Given the description of an element on the screen output the (x, y) to click on. 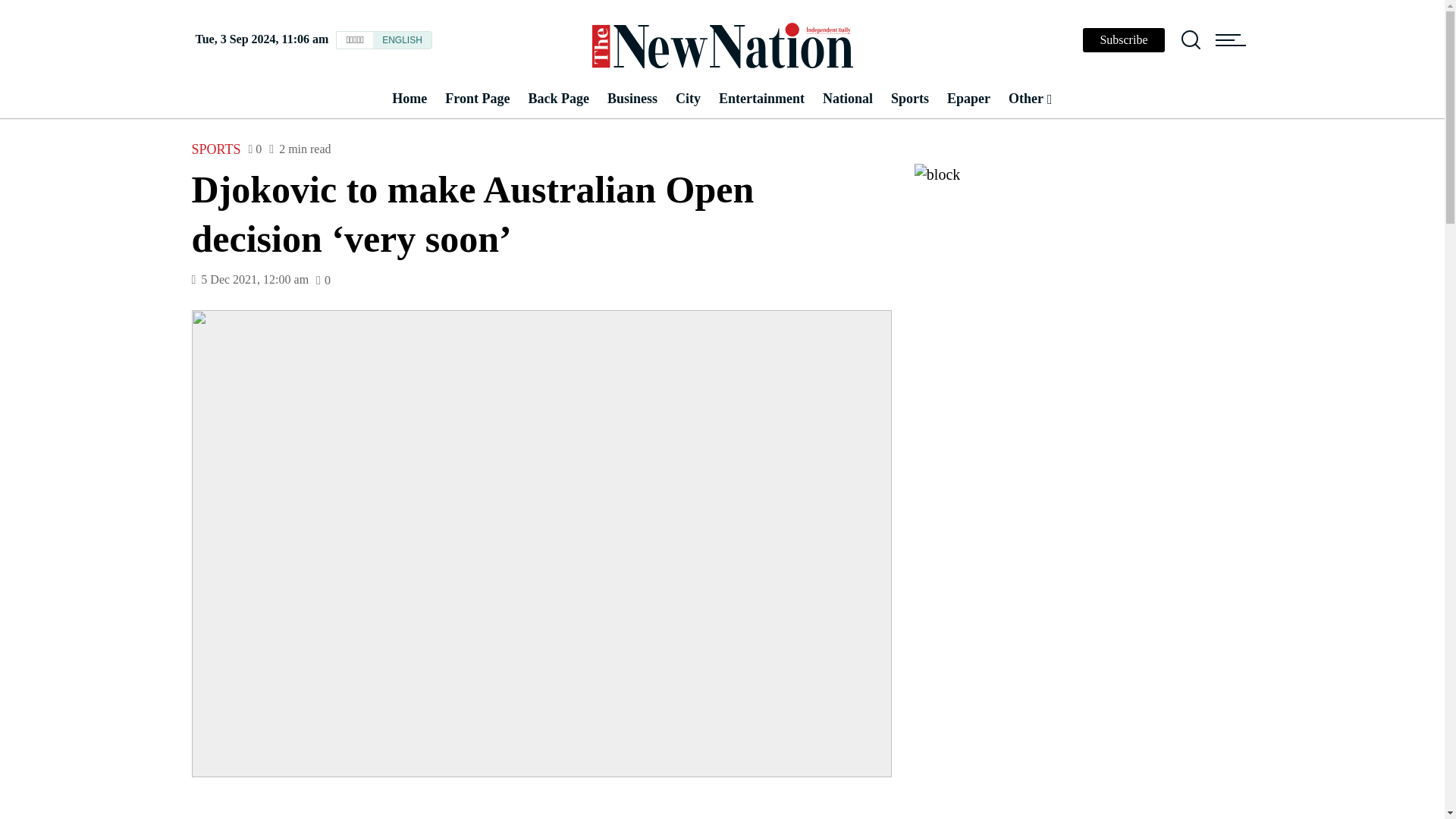
Front Page (476, 98)
Sports (909, 98)
Business (632, 98)
National (847, 98)
Subscribe (1123, 39)
Entertainment (761, 98)
Back Page (558, 98)
Other (1029, 98)
Home (408, 98)
0 (254, 148)
